Given the description of an element on the screen output the (x, y) to click on. 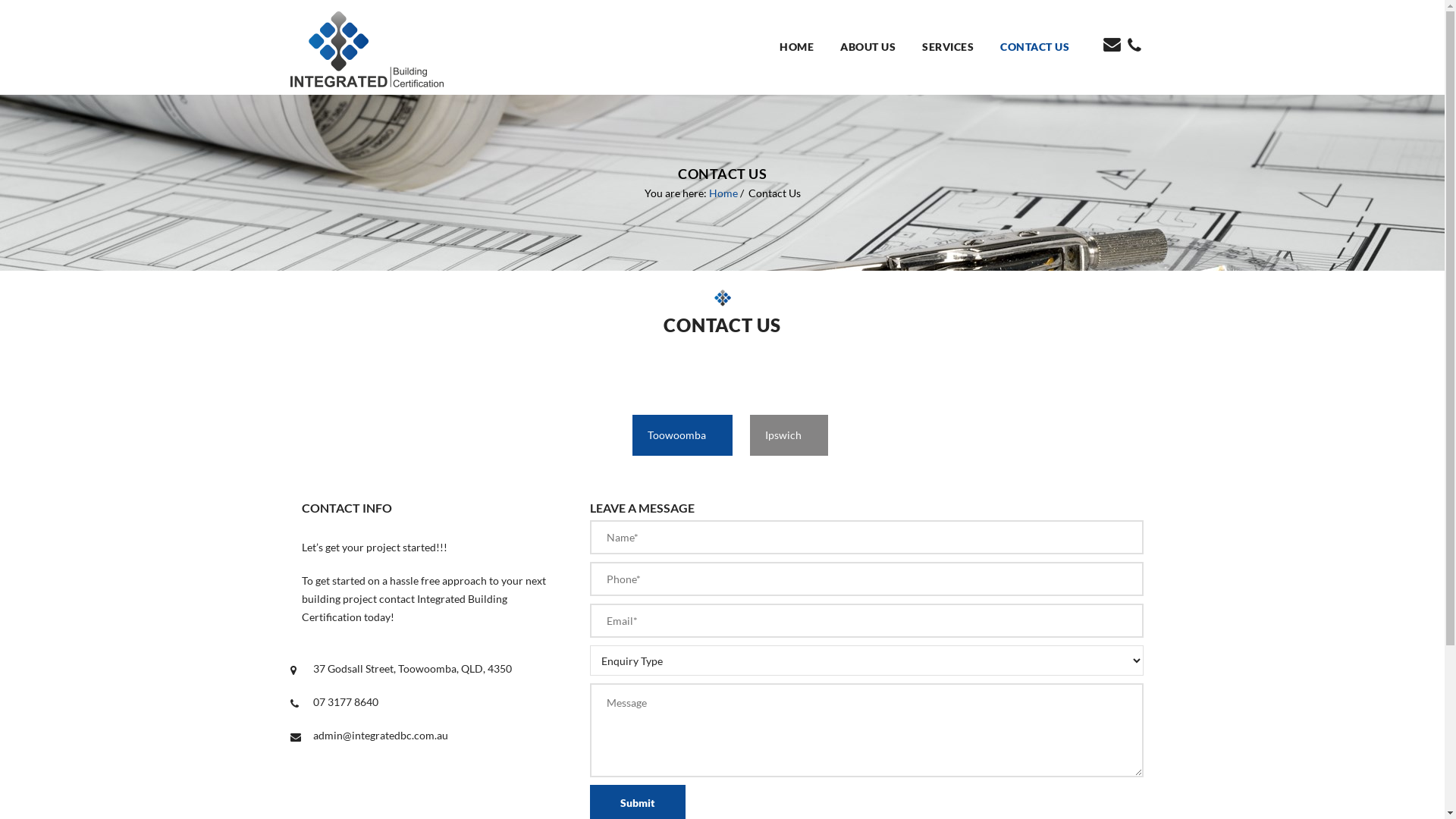
SERVICES Element type: text (953, 47)
admin@integratedbc.com.au Element type: text (379, 734)
CONTACT US Element type: text (1040, 47)
Ipswich Element type: text (788, 434)
Home Element type: text (722, 192)
HOME Element type: text (802, 47)
ABOUT US Element type: text (873, 47)
Toowoomba Element type: text (682, 434)
